Given the description of an element on the screen output the (x, y) to click on. 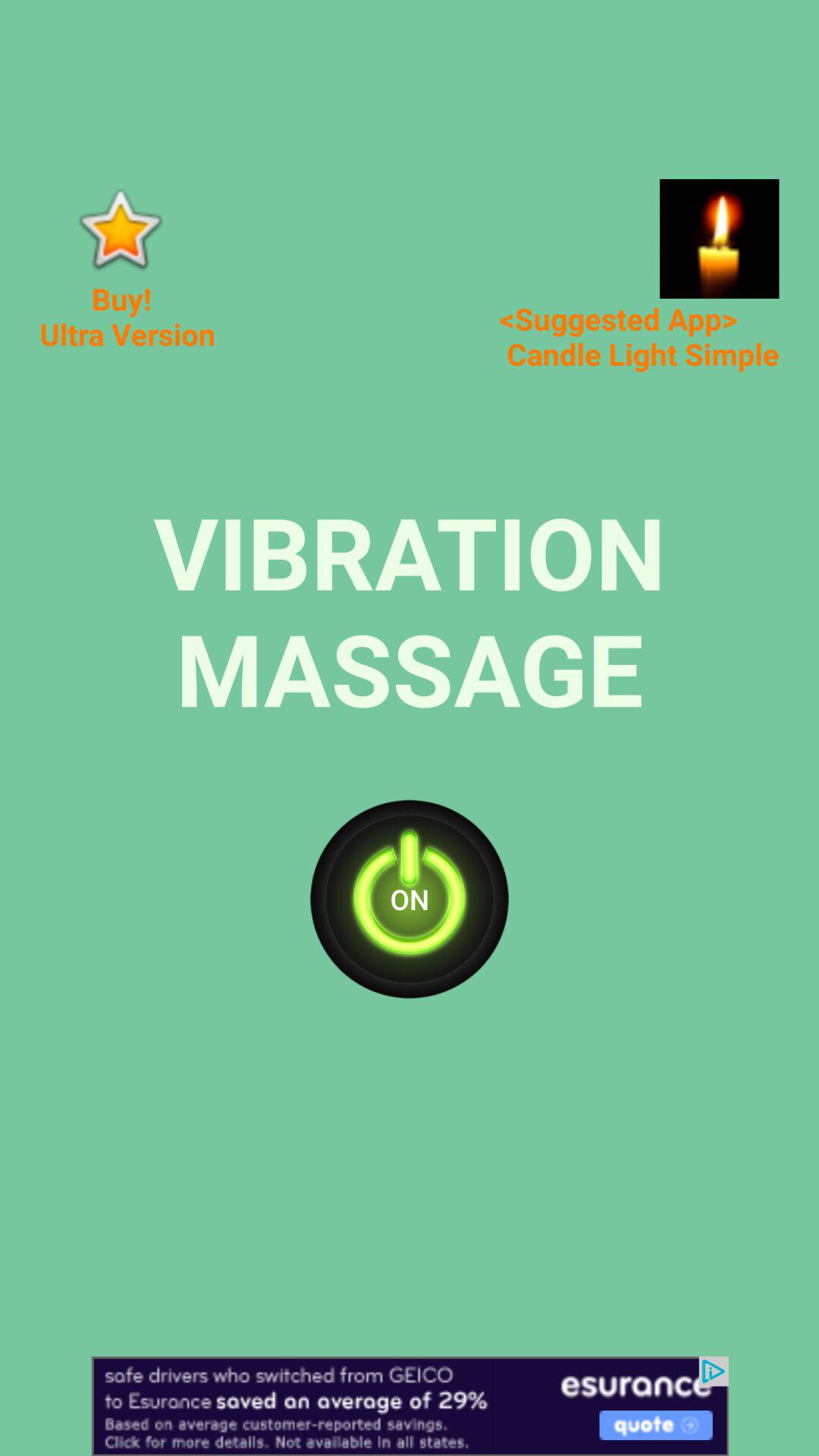
to click and buy ultra version (119, 228)
